Given the description of an element on the screen output the (x, y) to click on. 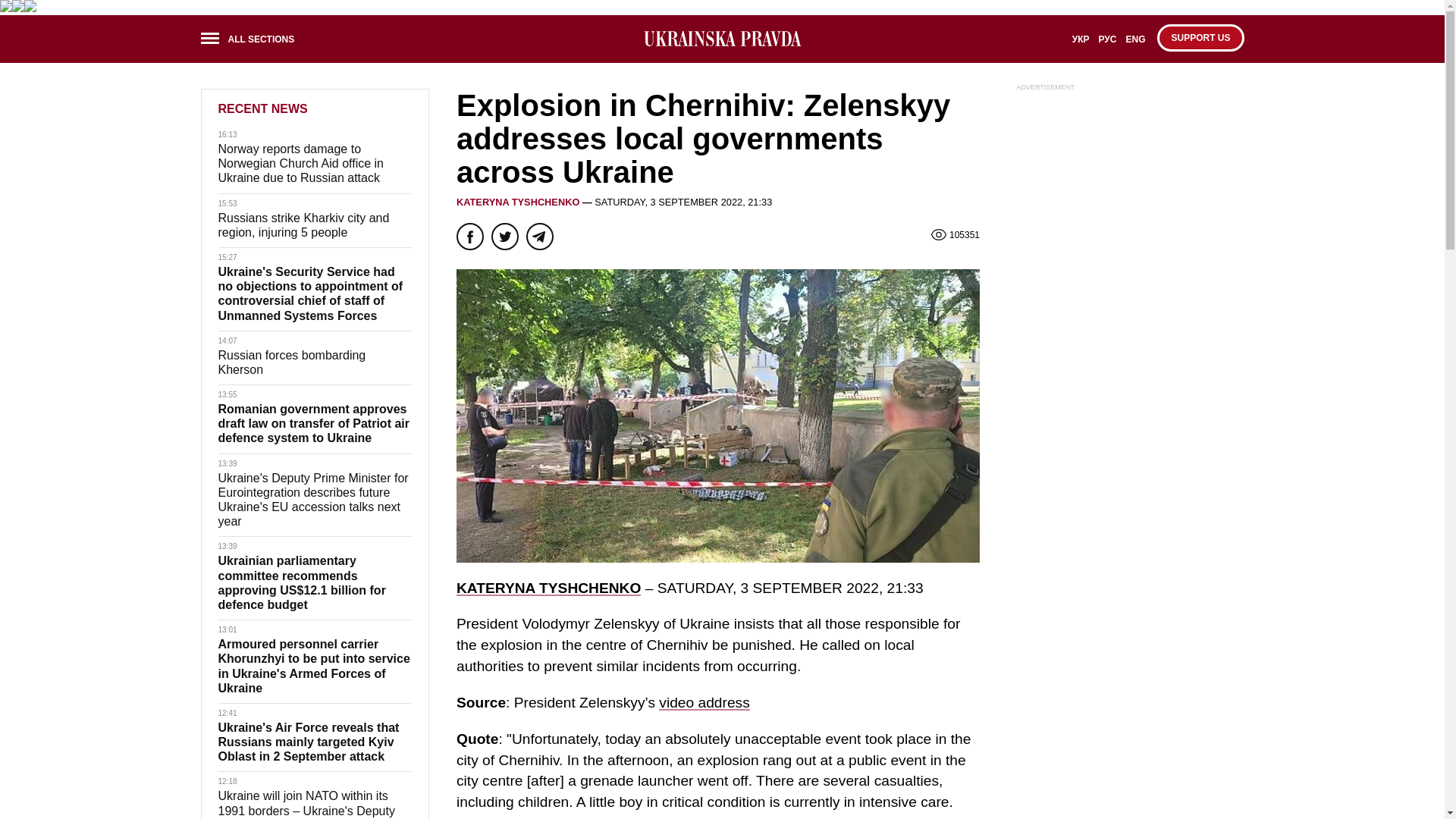
KATERYNA TYSHCHENKO (548, 587)
Ukrainska pravda (722, 38)
ENG (1135, 43)
Ukrainska pravda (722, 40)
SUPPORT US (1200, 37)
ALL SECTIONS (251, 41)
KATERYNA TYSHCHENKO (518, 202)
video address (704, 702)
